Given the description of an element on the screen output the (x, y) to click on. 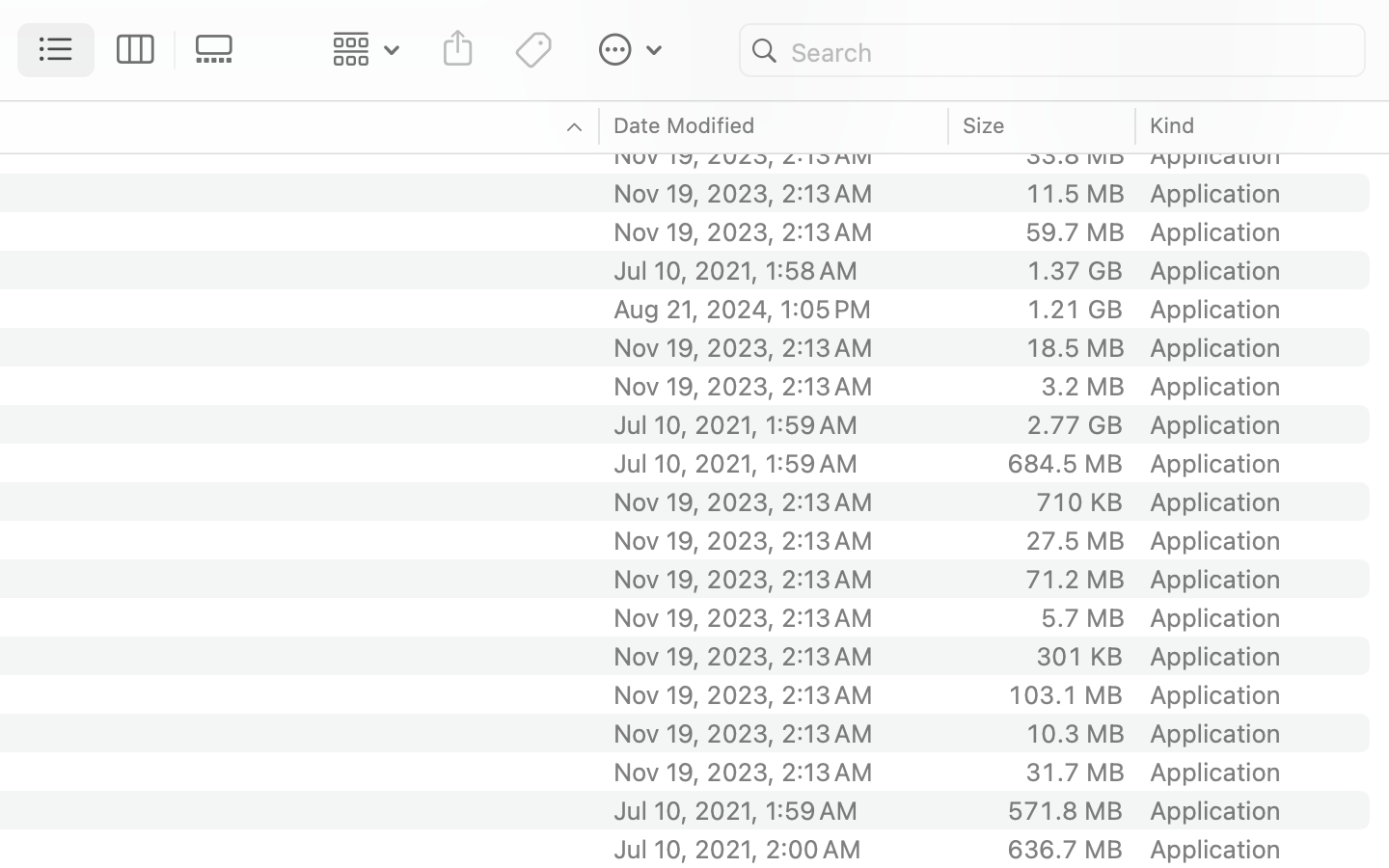
3.2 MB Element type: AXStaticText (1081, 385)
103.1 MB Element type: AXStaticText (1064, 693)
18.5 MB Element type: AXStaticText (1074, 346)
2.77 GB Element type: AXStaticText (1074, 423)
27.5 MB Element type: AXStaticText (1074, 539)
